Given the description of an element on the screen output the (x, y) to click on. 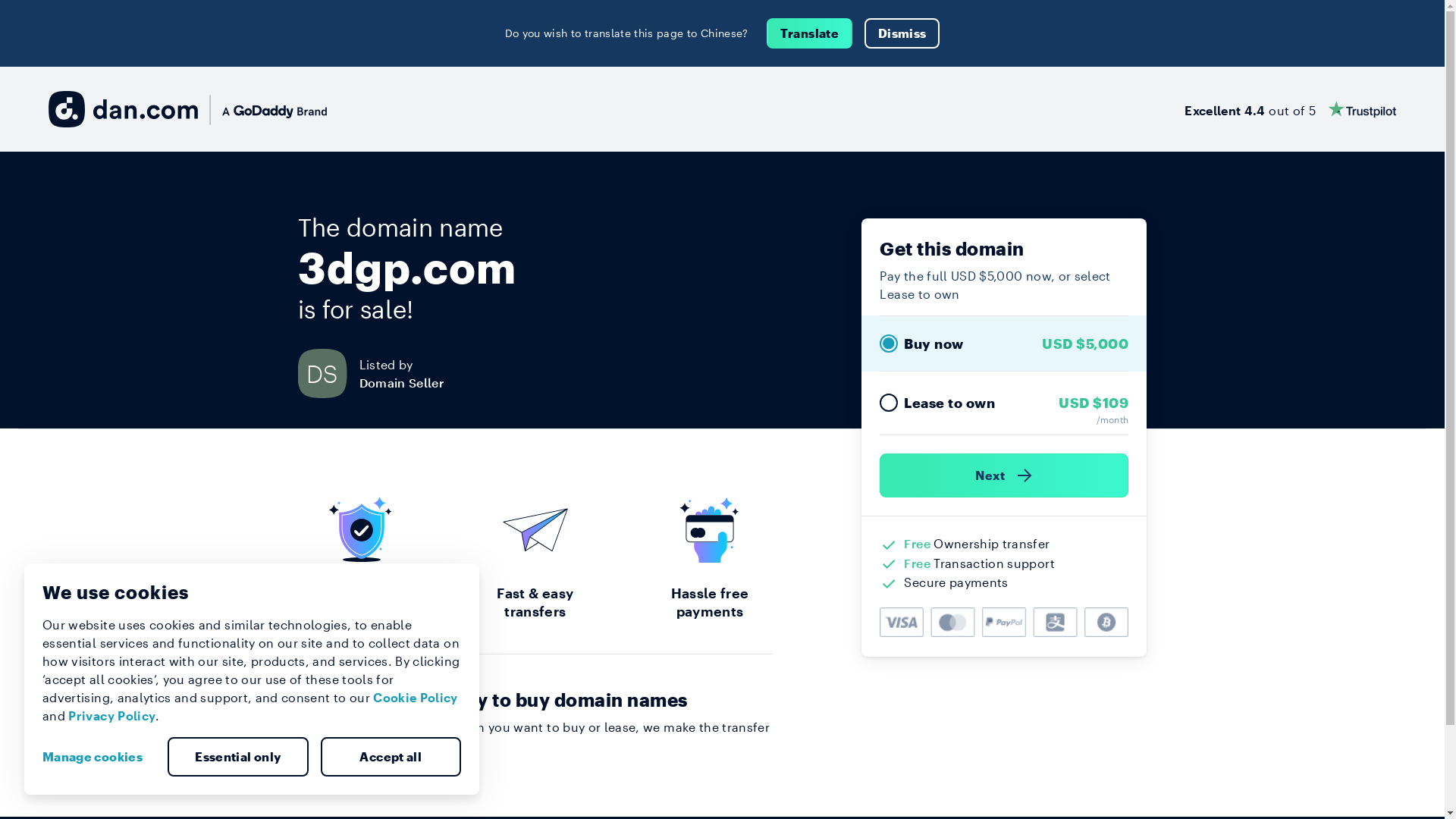
Manage cookies Element type: text (98, 756)
Cookie Policy Element type: text (415, 697)
Dismiss Element type: text (901, 33)
Next
) Element type: text (1003, 475)
Essential only Element type: text (237, 756)
Translate Element type: text (809, 33)
Privacy Policy Element type: text (111, 715)
Accept all Element type: text (390, 756)
Excellent 4.4 out of 5 Element type: text (1290, 109)
